Given the description of an element on the screen output the (x, y) to click on. 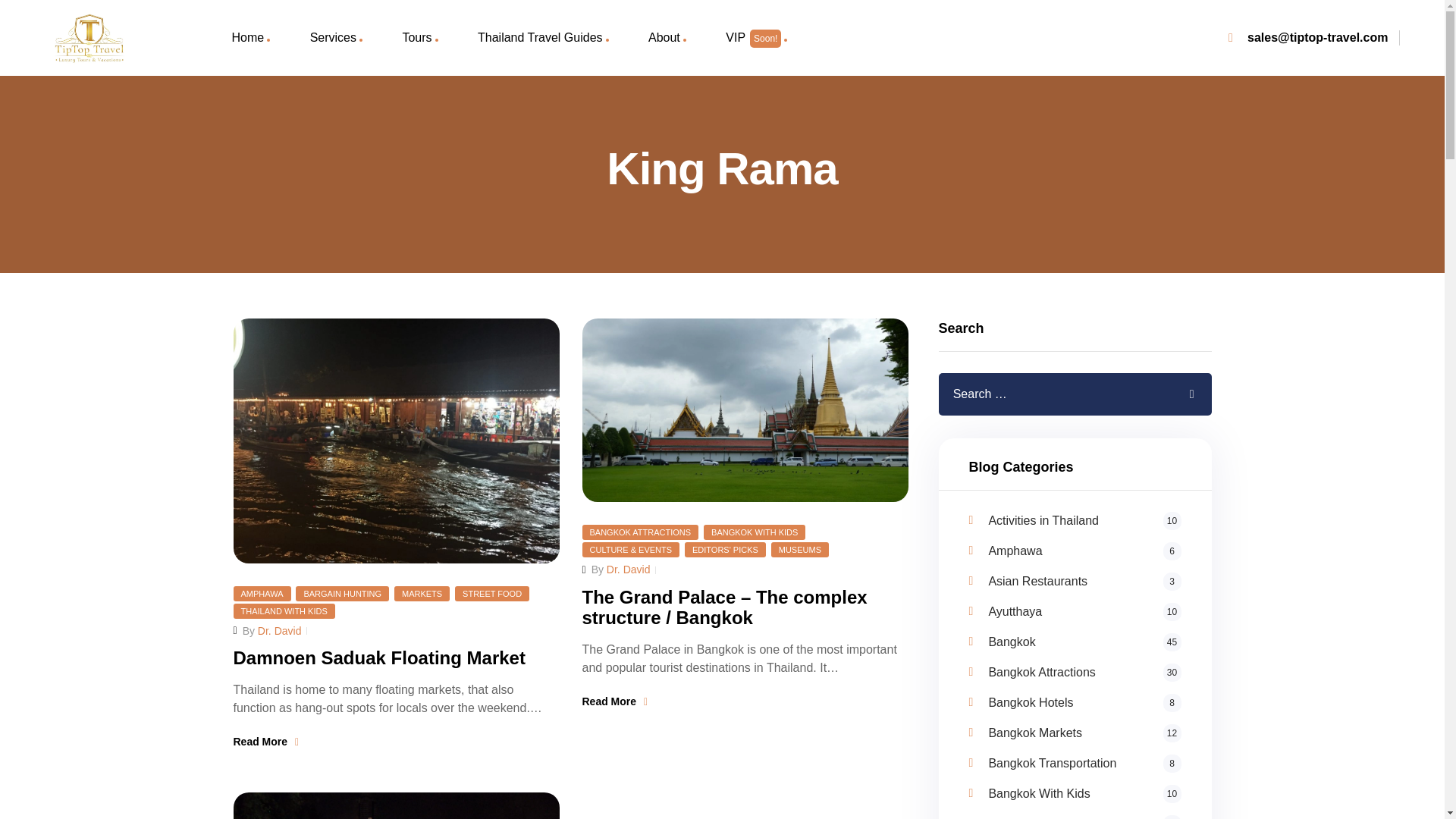
About (667, 37)
Dr. David (279, 630)
BANGKOK WITH KIDS (754, 531)
STREET FOOD (491, 593)
BARGAIN HUNTING (341, 593)
AMPHAWA (261, 593)
Services (336, 37)
Search (1181, 394)
Thailand Travel Guides (543, 37)
Home (250, 37)
Search (1181, 394)
Damnoen Saduak Floating Market (378, 657)
MARKETS (421, 593)
BANGKOK ATTRACTIONS (640, 531)
Tours (419, 37)
